Given the description of an element on the screen output the (x, y) to click on. 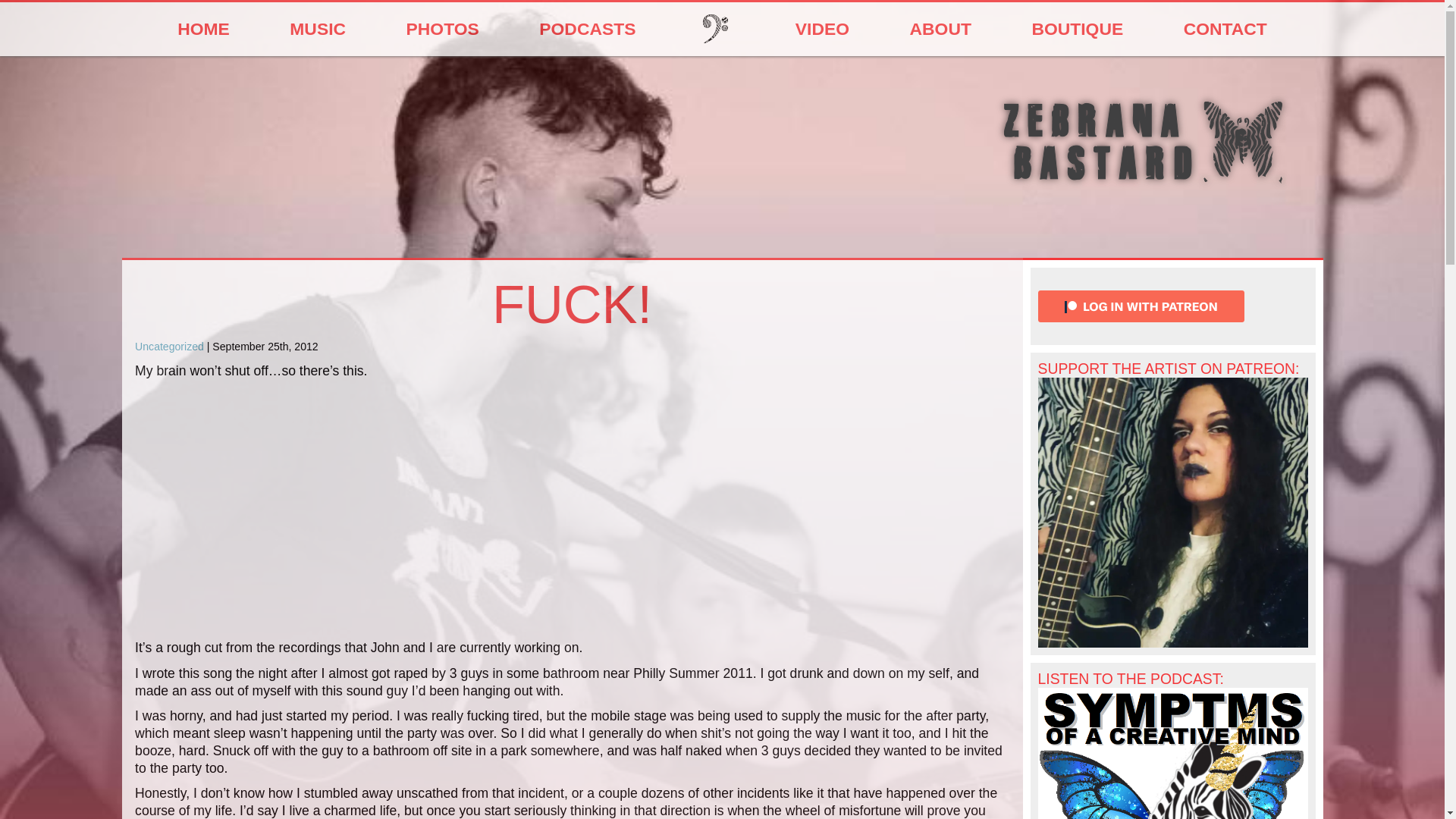
Zebrana Bastard (1143, 156)
VIDEO (821, 29)
PHOTOS (442, 29)
HOME (203, 29)
PODCASTS (587, 29)
BOUTIQUE (1077, 29)
Uncategorized (169, 346)
ABOUT (940, 29)
MUSIC (318, 29)
CONTACT (1225, 29)
